Given the description of an element on the screen output the (x, y) to click on. 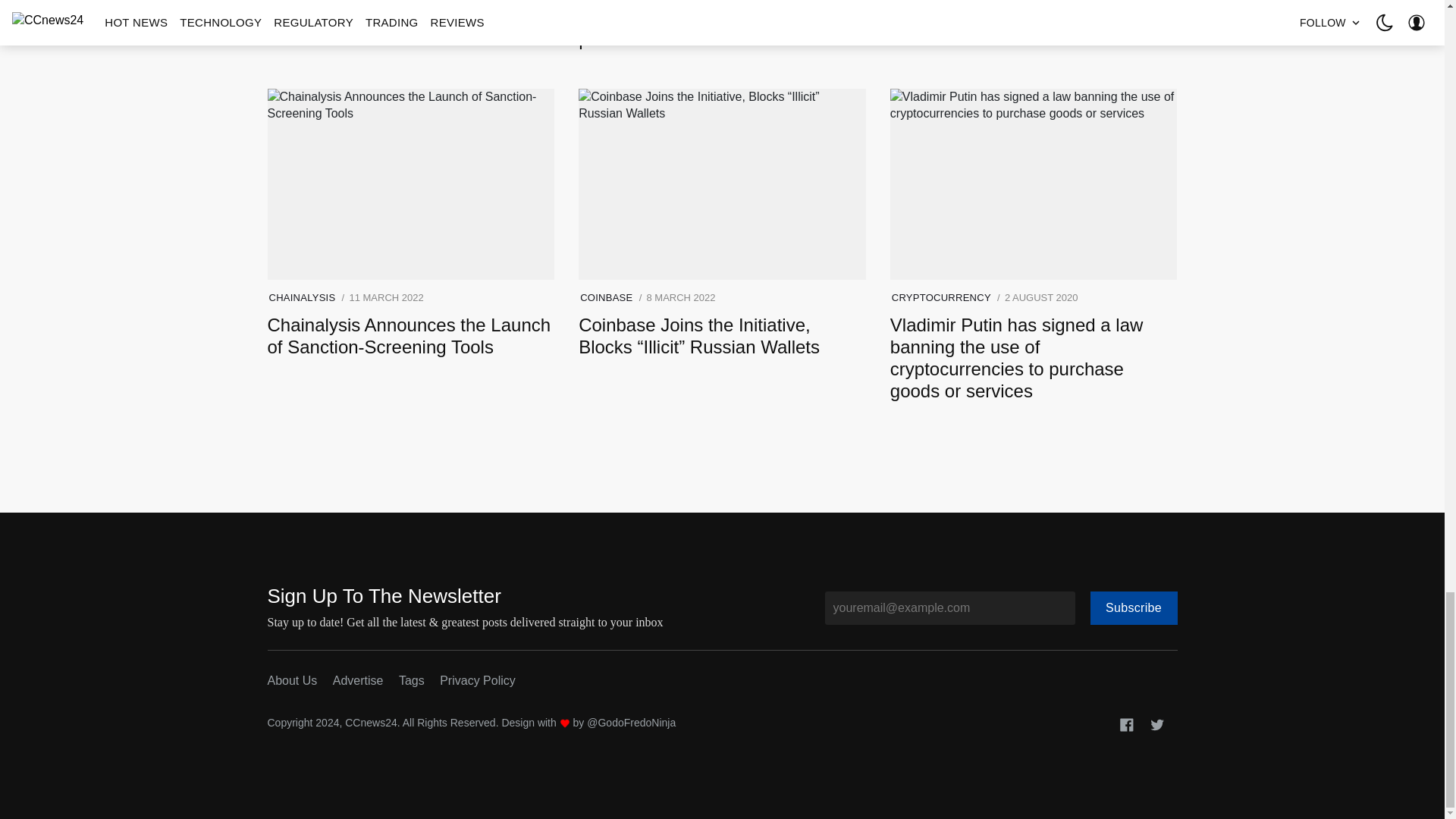
Developer FullStack. (630, 722)
Facebook ccnews24.net (1126, 723)
